Given the description of an element on the screen output the (x, y) to click on. 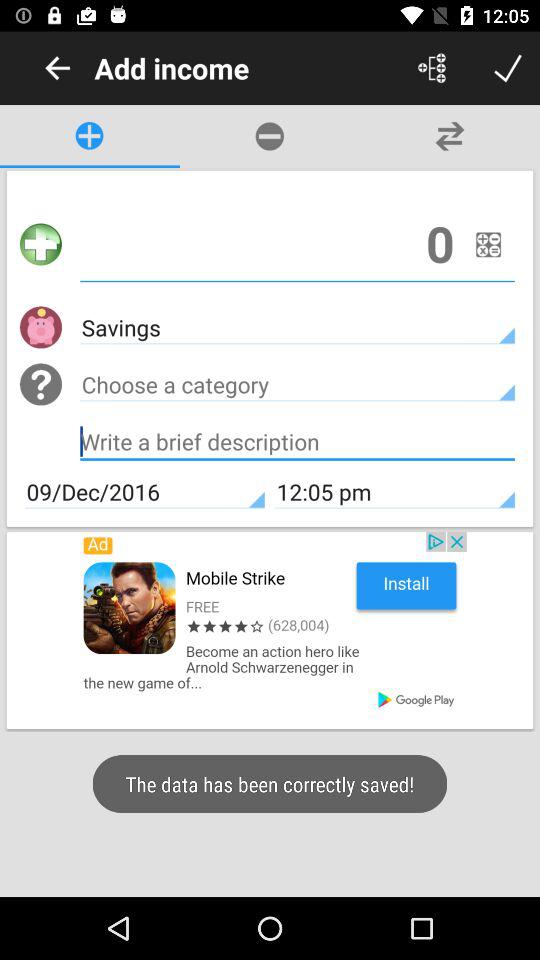
advert (269, 630)
